Given the description of an element on the screen output the (x, y) to click on. 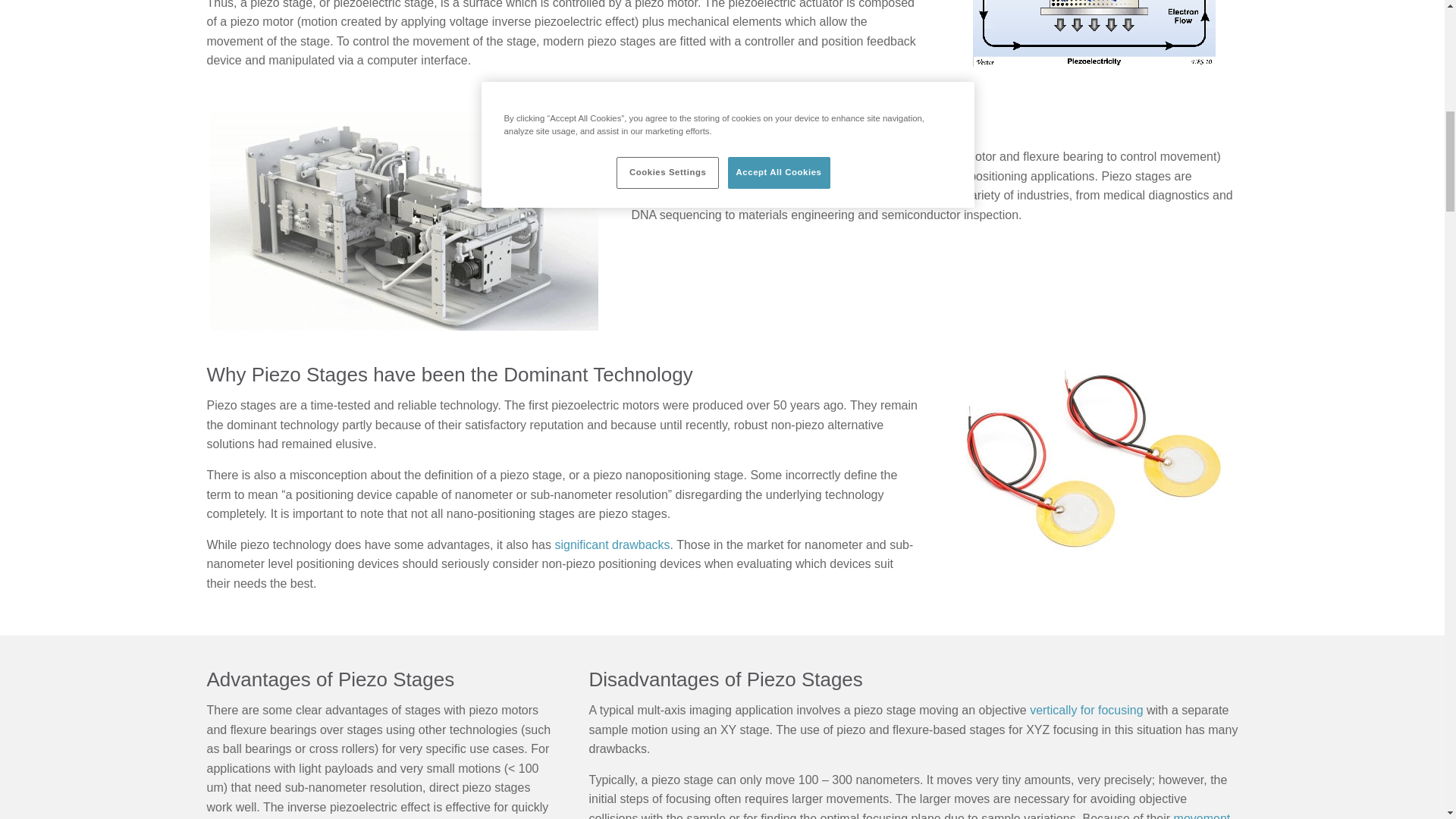
image (402, 221)
